Given the description of an element on the screen output the (x, y) to click on. 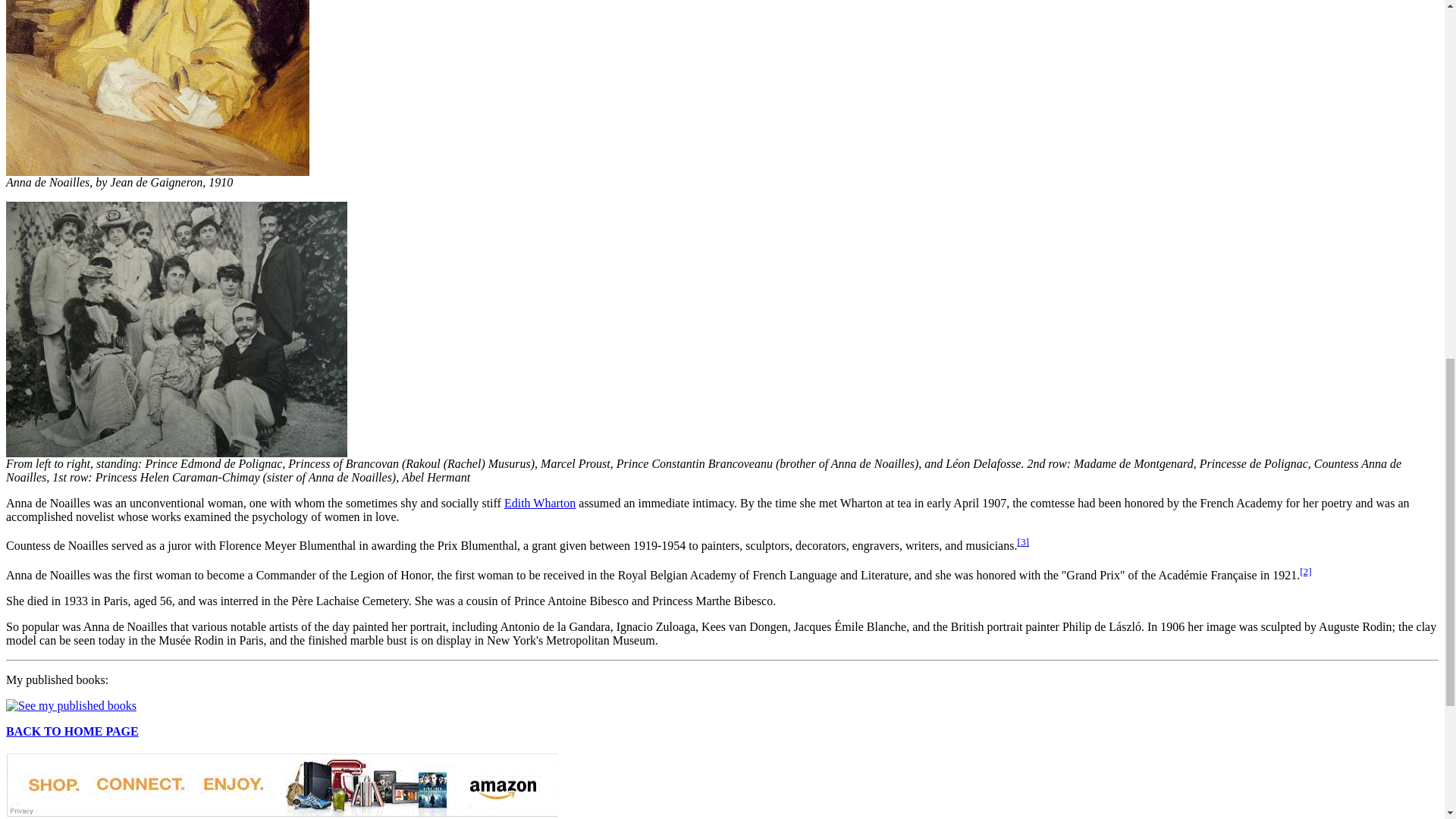
Edith Wharton (539, 502)
See my published books (70, 705)
BACK TO HOME PAGE (71, 730)
